Given the description of an element on the screen output the (x, y) to click on. 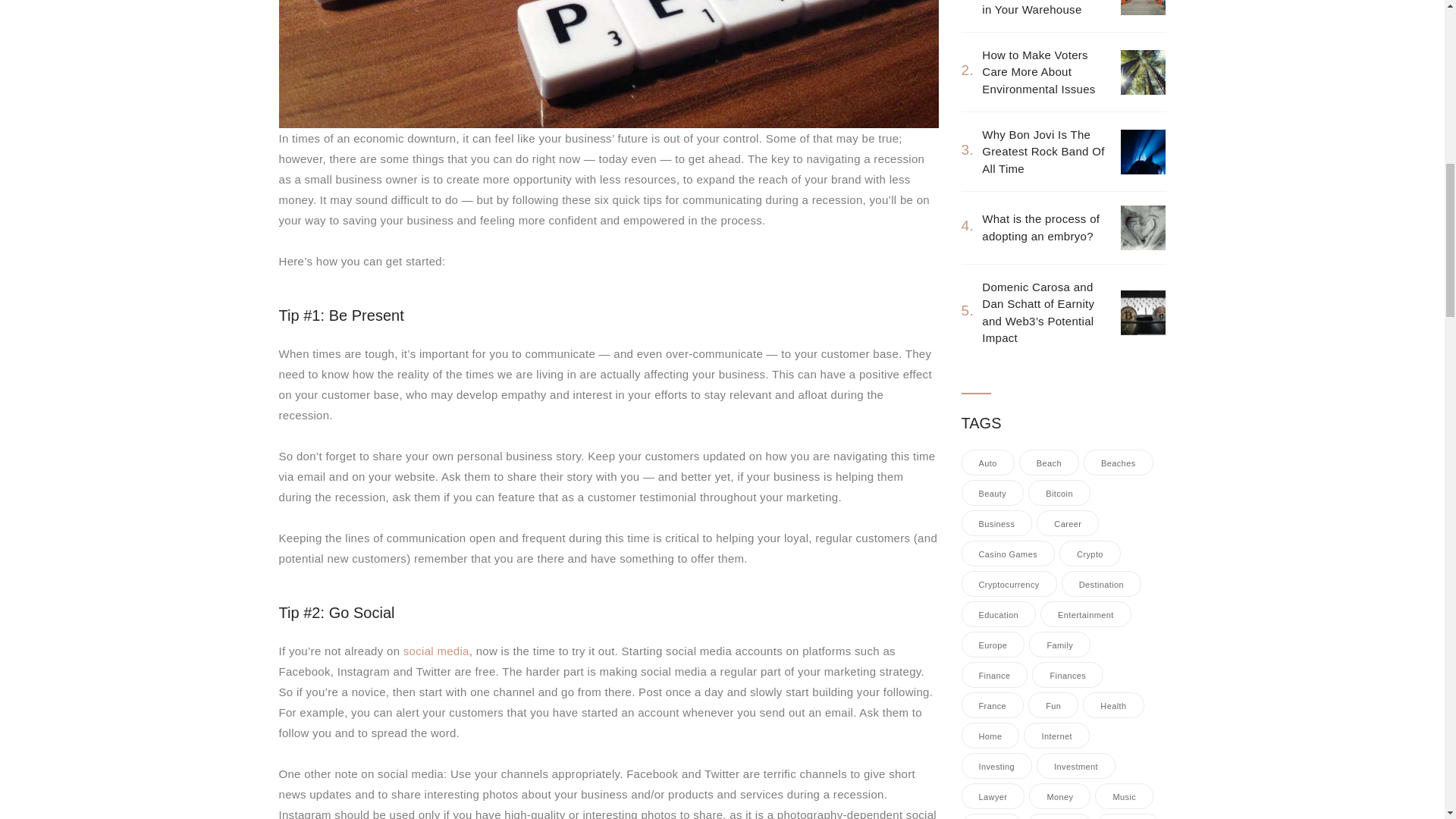
social media (435, 650)
